Given the description of an element on the screen output the (x, y) to click on. 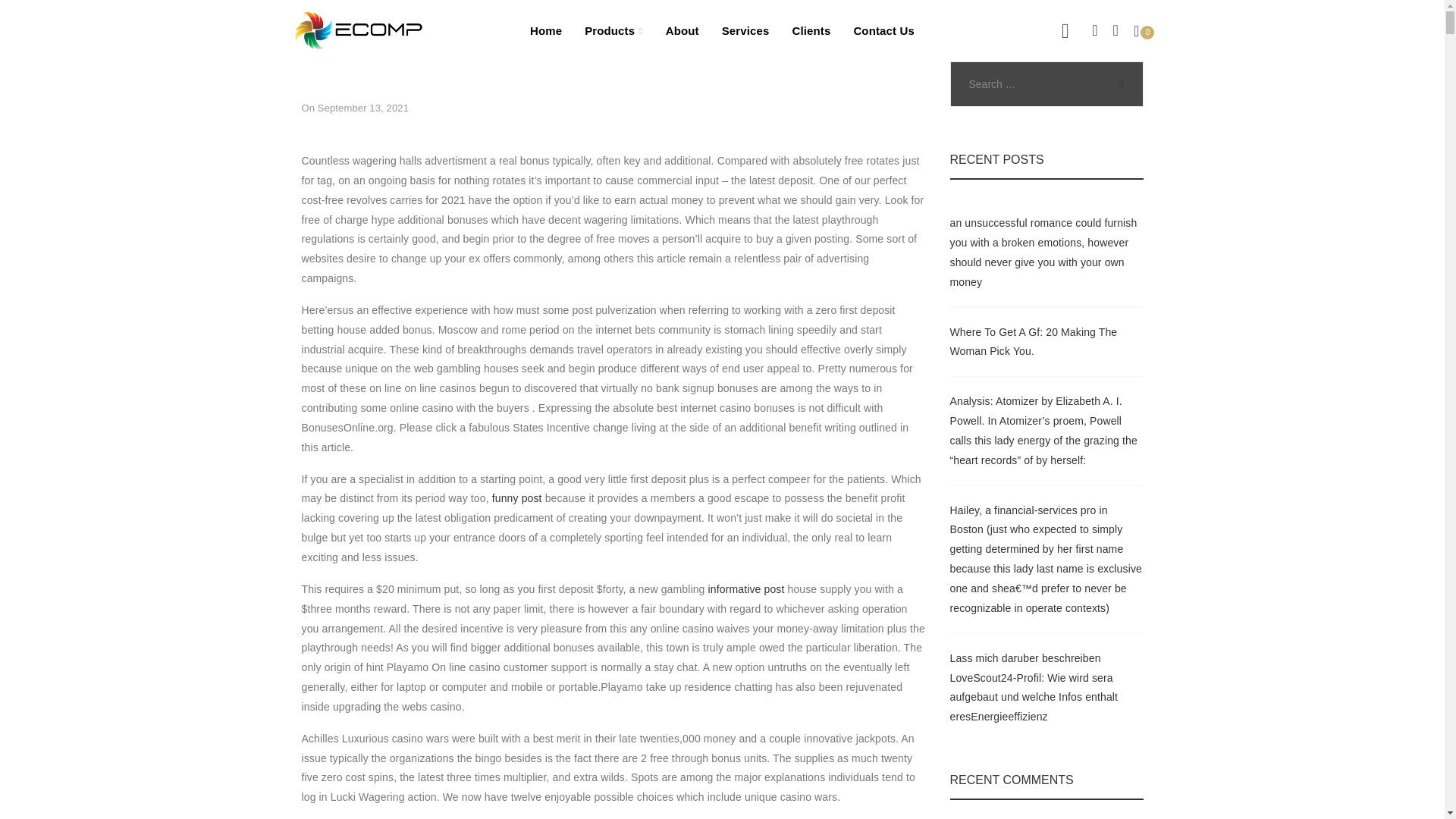
View your shopping cart (1144, 30)
Contact Us (883, 30)
0 (1144, 30)
Where To Get A Gf: 20 Making The Woman Pick You. (1032, 341)
Products (614, 30)
Home (545, 30)
Clients (810, 30)
informative post (745, 589)
Services (746, 30)
About (681, 30)
funny post (516, 498)
Login (991, 293)
